Given the description of an element on the screen output the (x, y) to click on. 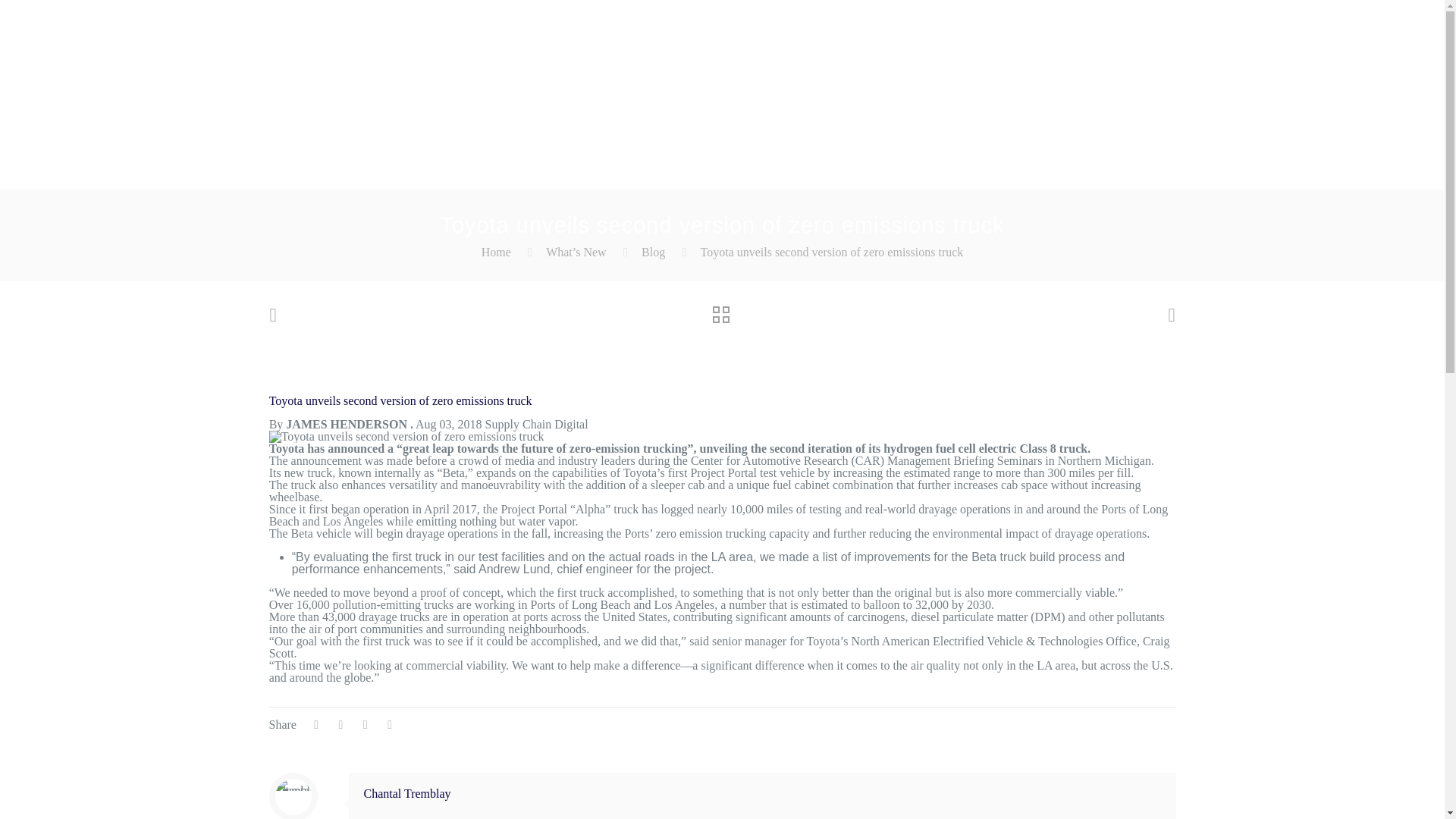
Chantal Tremblay (407, 793)
Blog (653, 251)
Home (496, 251)
Toyota unveils second version of zero emissions truck (831, 251)
